Given the description of an element on the screen output the (x, y) to click on. 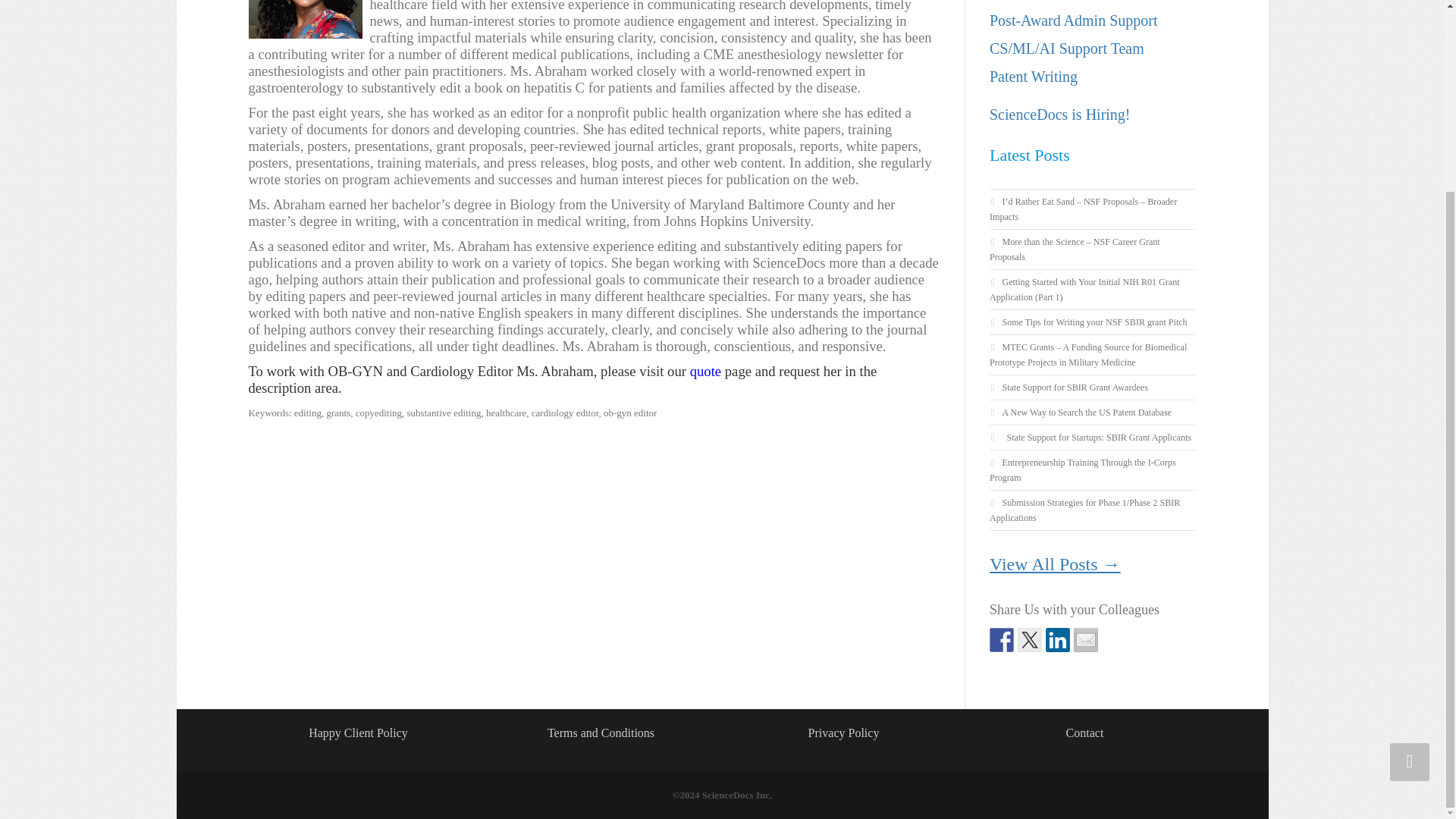
quote (705, 372)
Patent Writing (1033, 76)
State Support for SBIR Grant Awardees (1074, 387)
Post-Award Admin Support (1073, 20)
A New Way to Search the US Patent Database (1086, 412)
  State Support for Startups: SBIR Grant Applicants (1096, 437)
Some Tips for Writing your NSF SBIR grant Pitch (1093, 321)
Happy Client Policy (357, 732)
Entrepreneurship Training Through the I-Corps Program (1083, 470)
ScienceDocs is Hiring! (1060, 114)
